Given the description of an element on the screen output the (x, y) to click on. 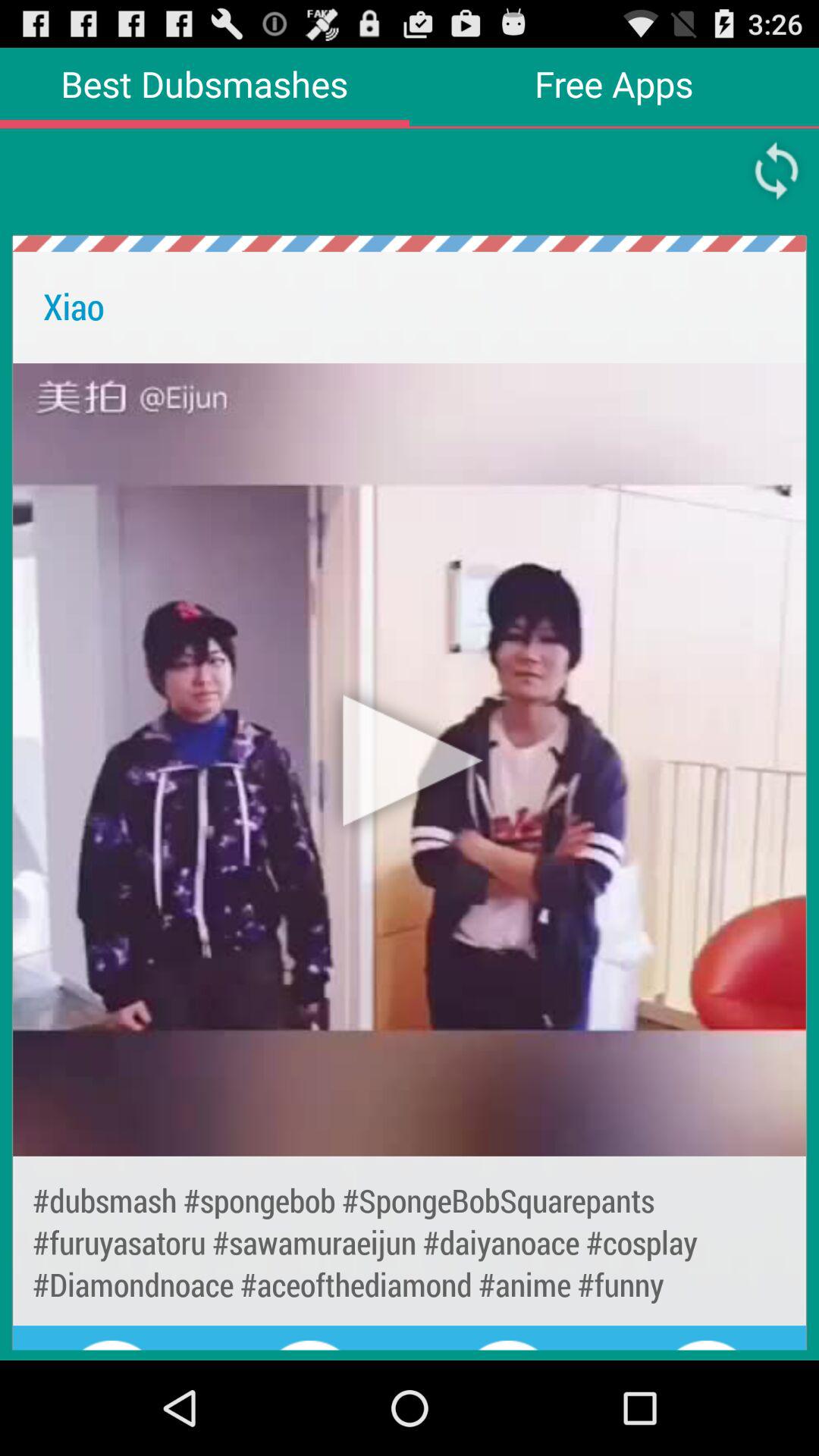
refresh video (776, 170)
